Given the description of an element on the screen output the (x, y) to click on. 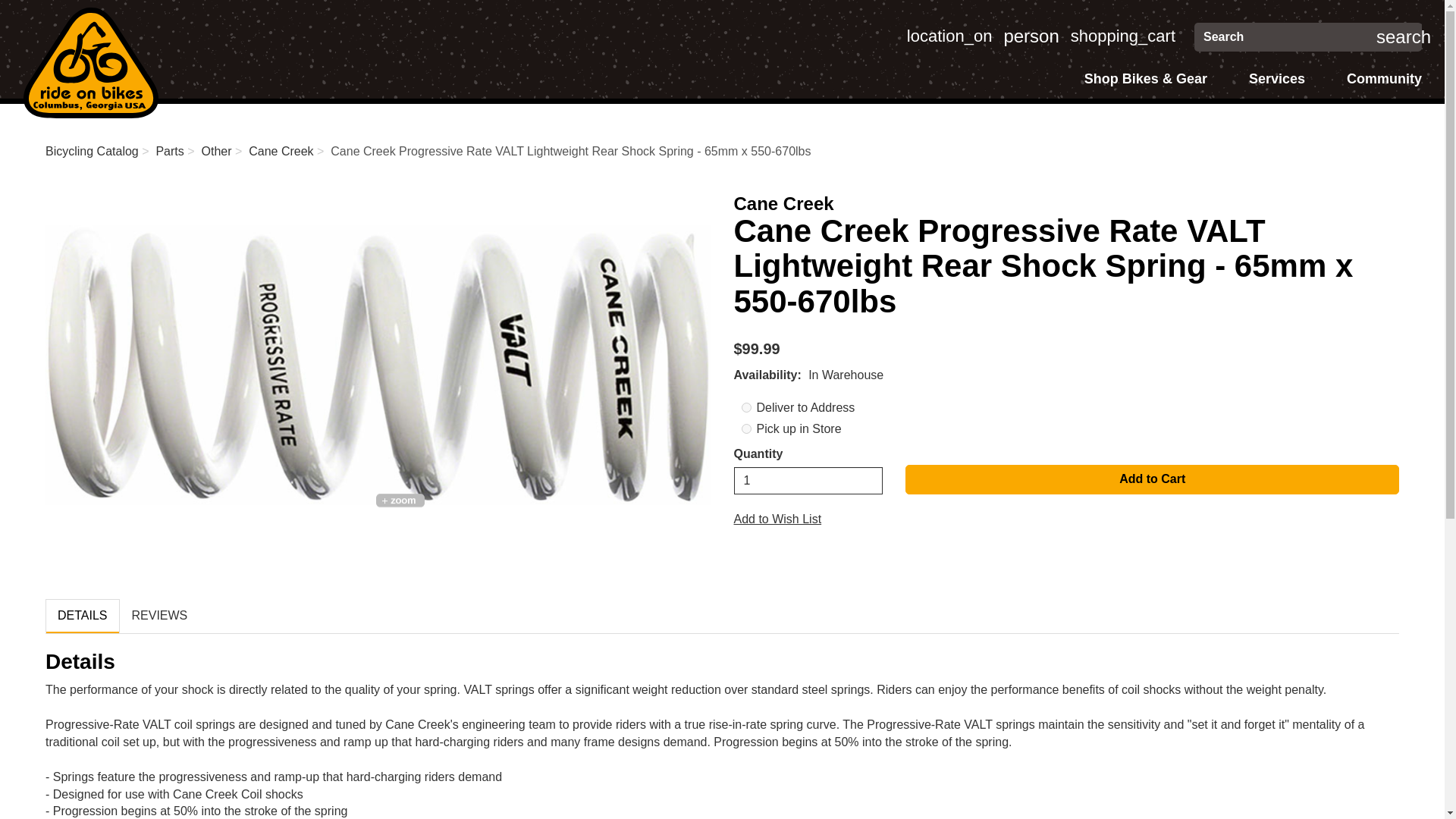
Account (1030, 35)
Store (1030, 35)
Search (949, 35)
Cart (949, 35)
Search (1404, 36)
on (1122, 35)
RideOn Bikes Home Page (1289, 36)
on (746, 407)
1 (90, 62)
